Given the description of an element on the screen output the (x, y) to click on. 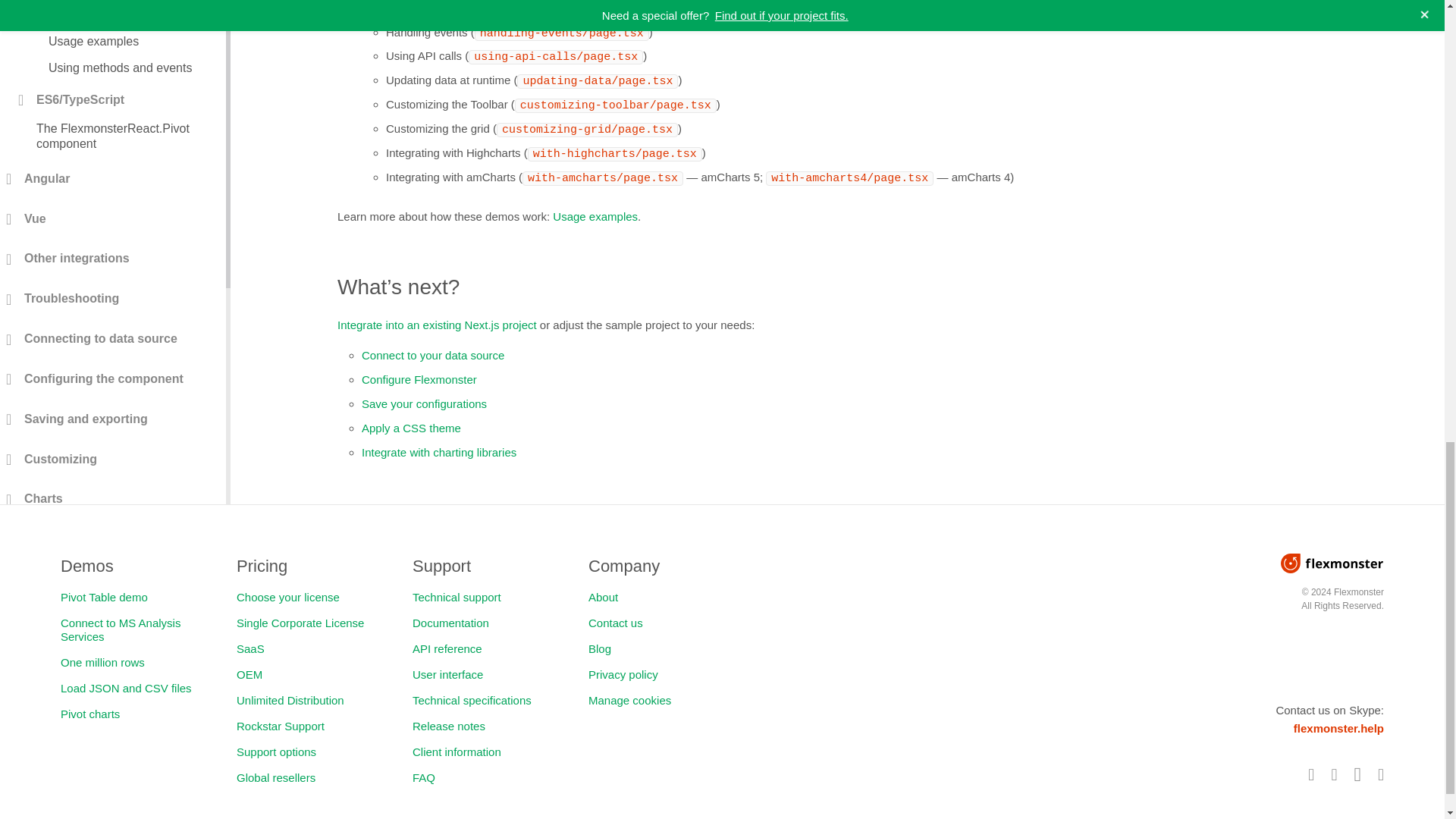
Flexmonster (1332, 563)
